Given the description of an element on the screen output the (x, y) to click on. 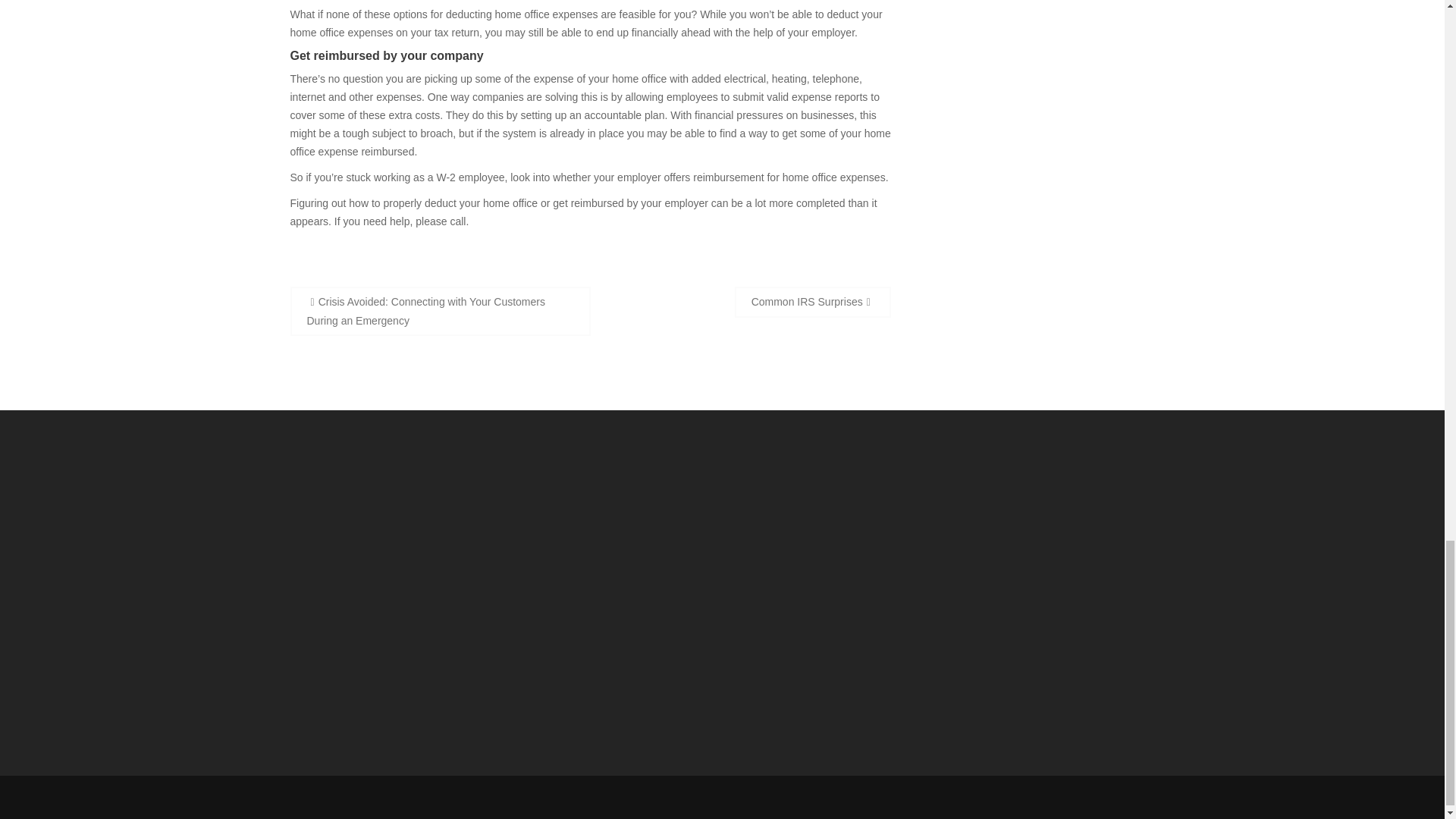
Common IRS Surprises (813, 301)
